Given the description of an element on the screen output the (x, y) to click on. 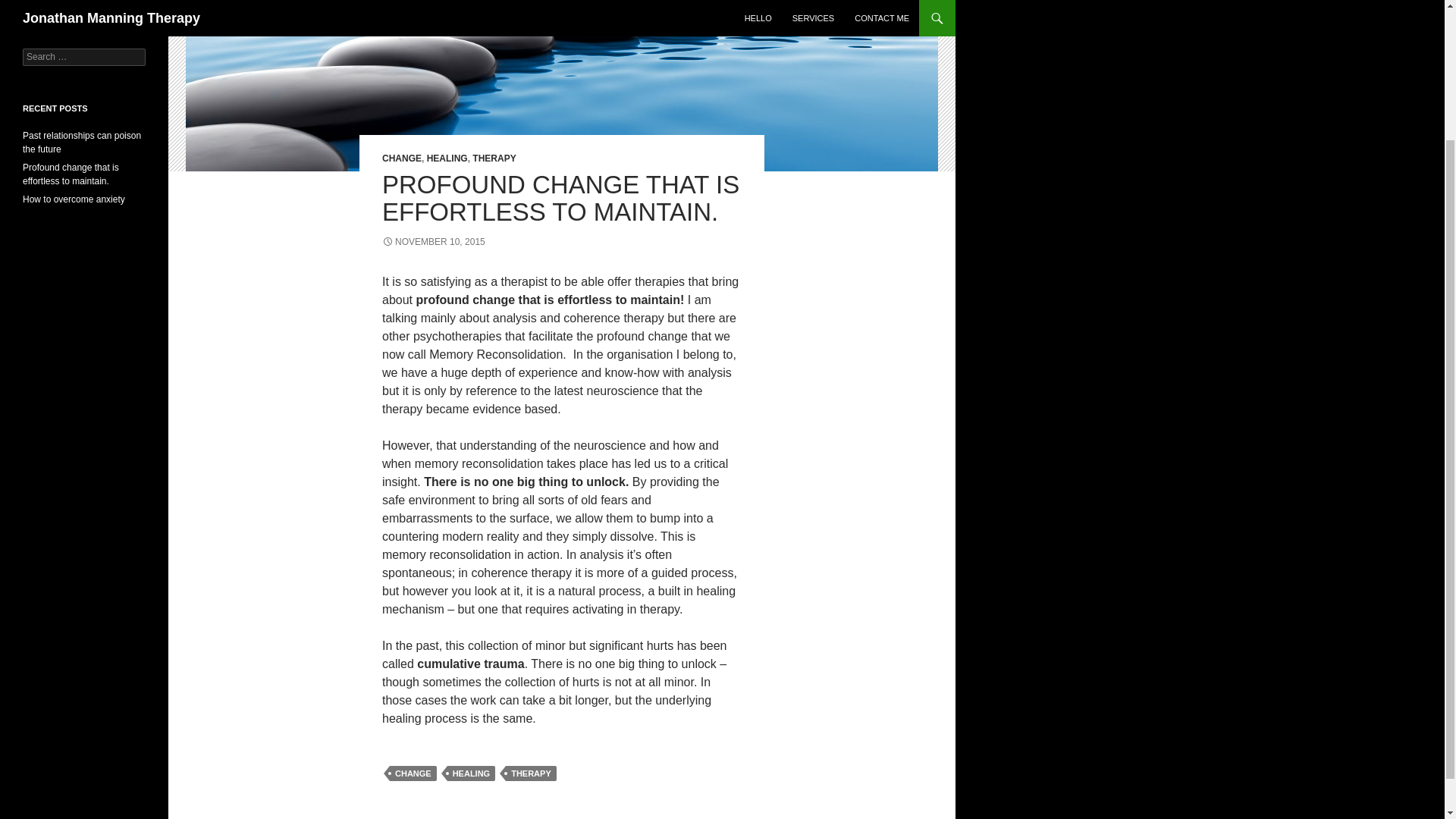
HEALING (471, 773)
How to overcome anxiety (74, 199)
CONTACT ME (84, 5)
Past relationships can poison the future (82, 142)
THERAPY (530, 773)
CHANGE (413, 773)
HEALING (446, 158)
PROFOUND CHANGE THAT IS EFFORTLESS TO MAINTAIN. (560, 198)
CHANGE (401, 158)
Profound change that is effortless to maintain. (71, 174)
